Given the description of an element on the screen output the (x, y) to click on. 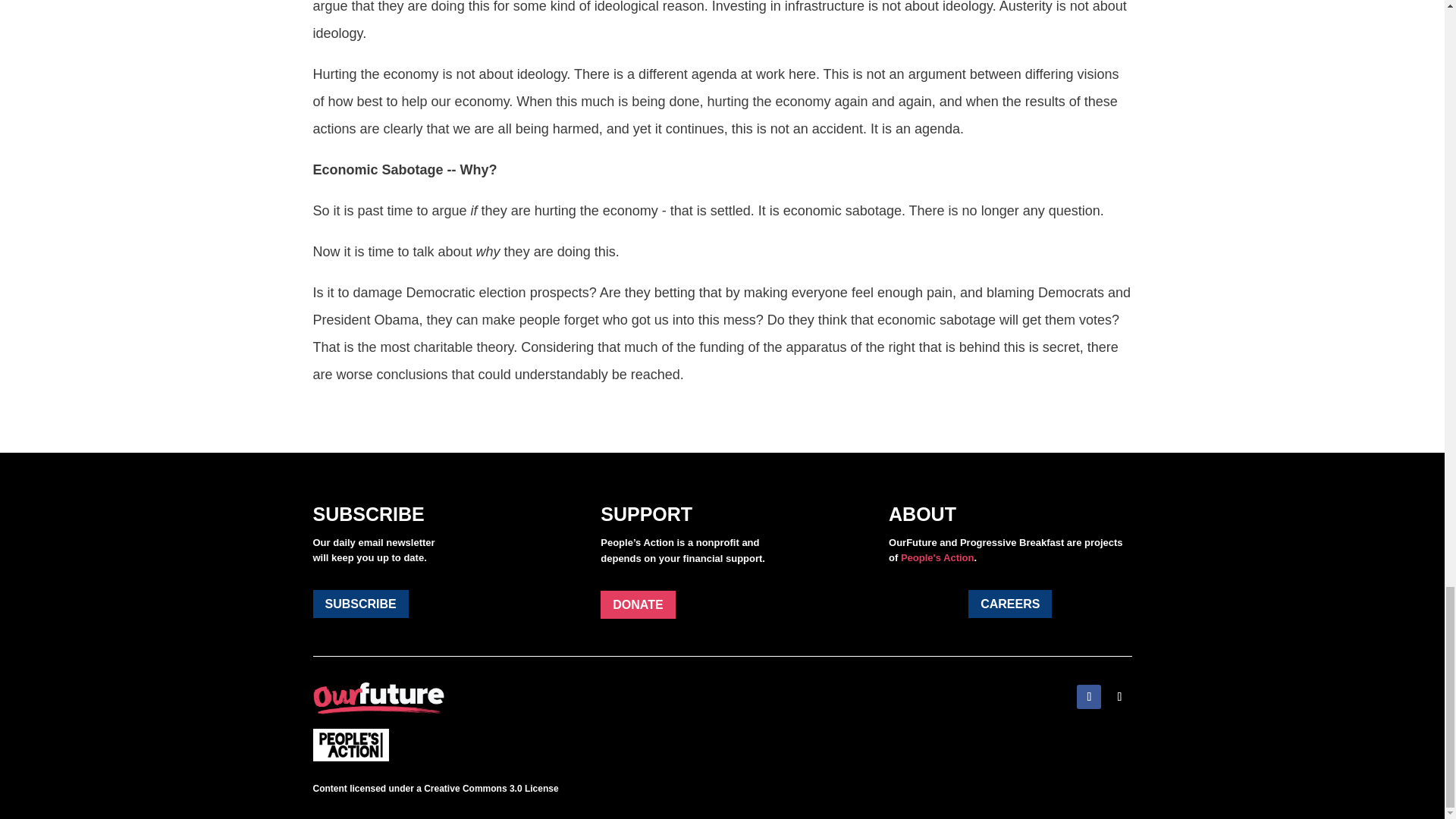
SUBSCRIBE (360, 603)
Follow on X (1118, 696)
Follow on Facebook (1088, 696)
